Given the description of an element on the screen output the (x, y) to click on. 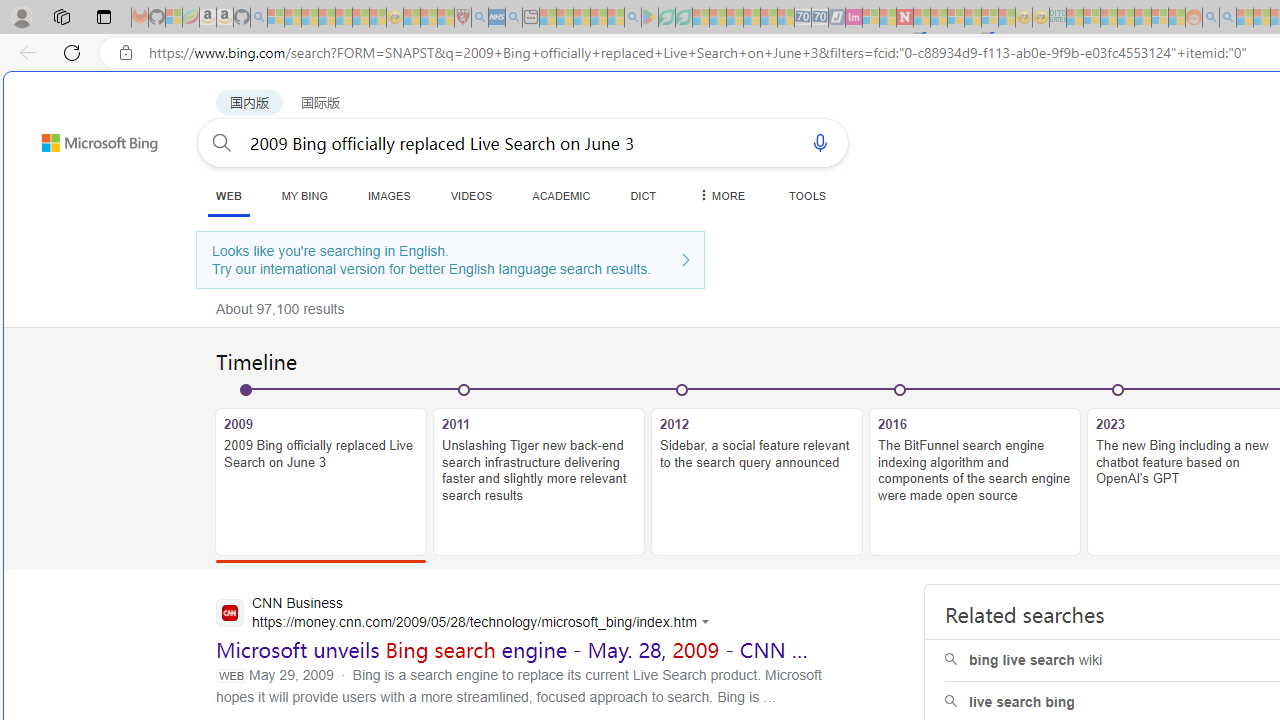
Latest Politics News & Archive | Newsweek.com - Sleeping (904, 17)
CNN Business (467, 614)
Dropdown Menu (720, 195)
WEB (228, 195)
TOOLS (807, 195)
TOOLS (807, 195)
google - Search - Sleeping (632, 17)
ACADEMIC (561, 195)
